Given the description of an element on the screen output the (x, y) to click on. 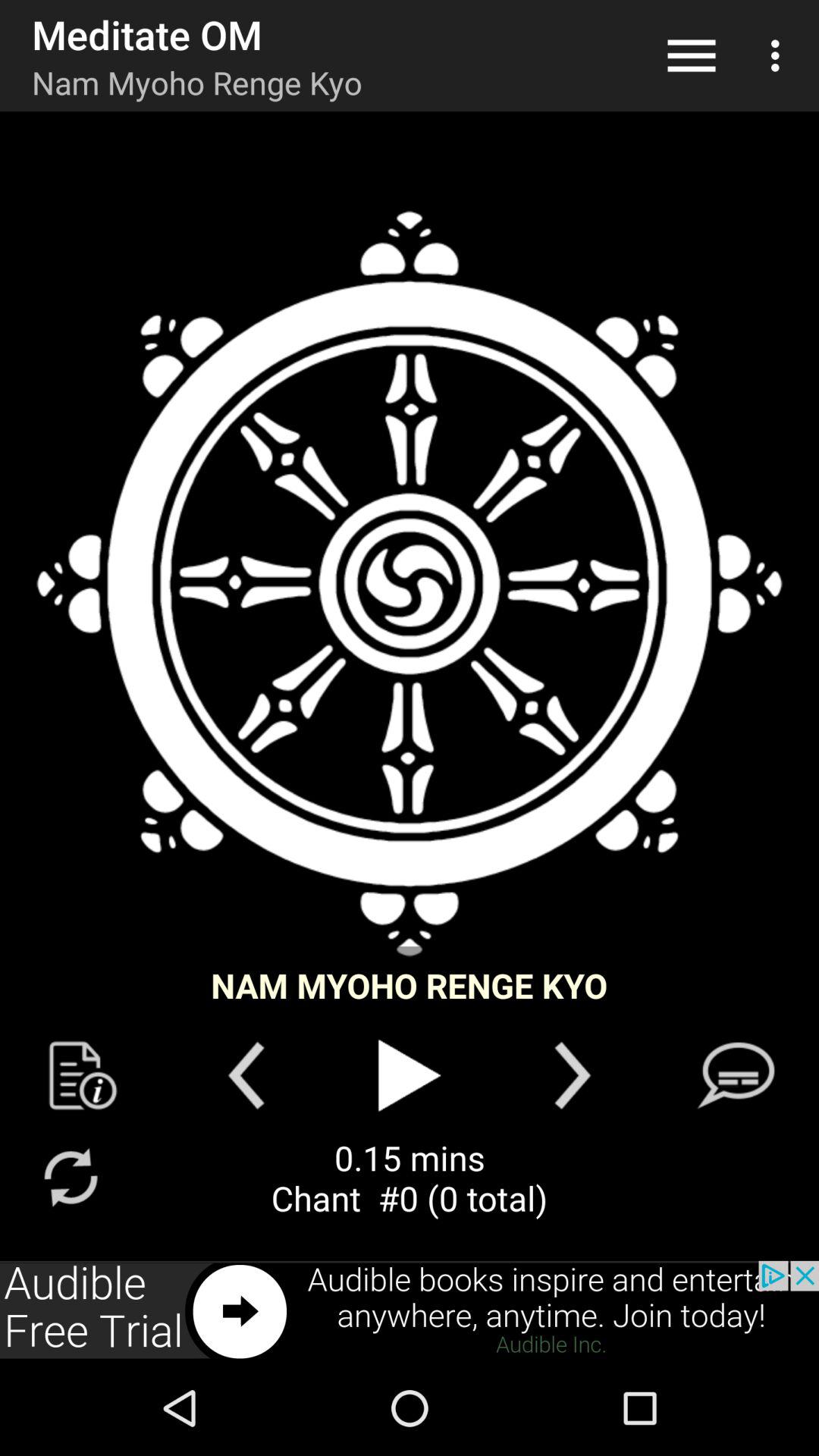
social function (735, 1075)
